Given the description of an element on the screen output the (x, y) to click on. 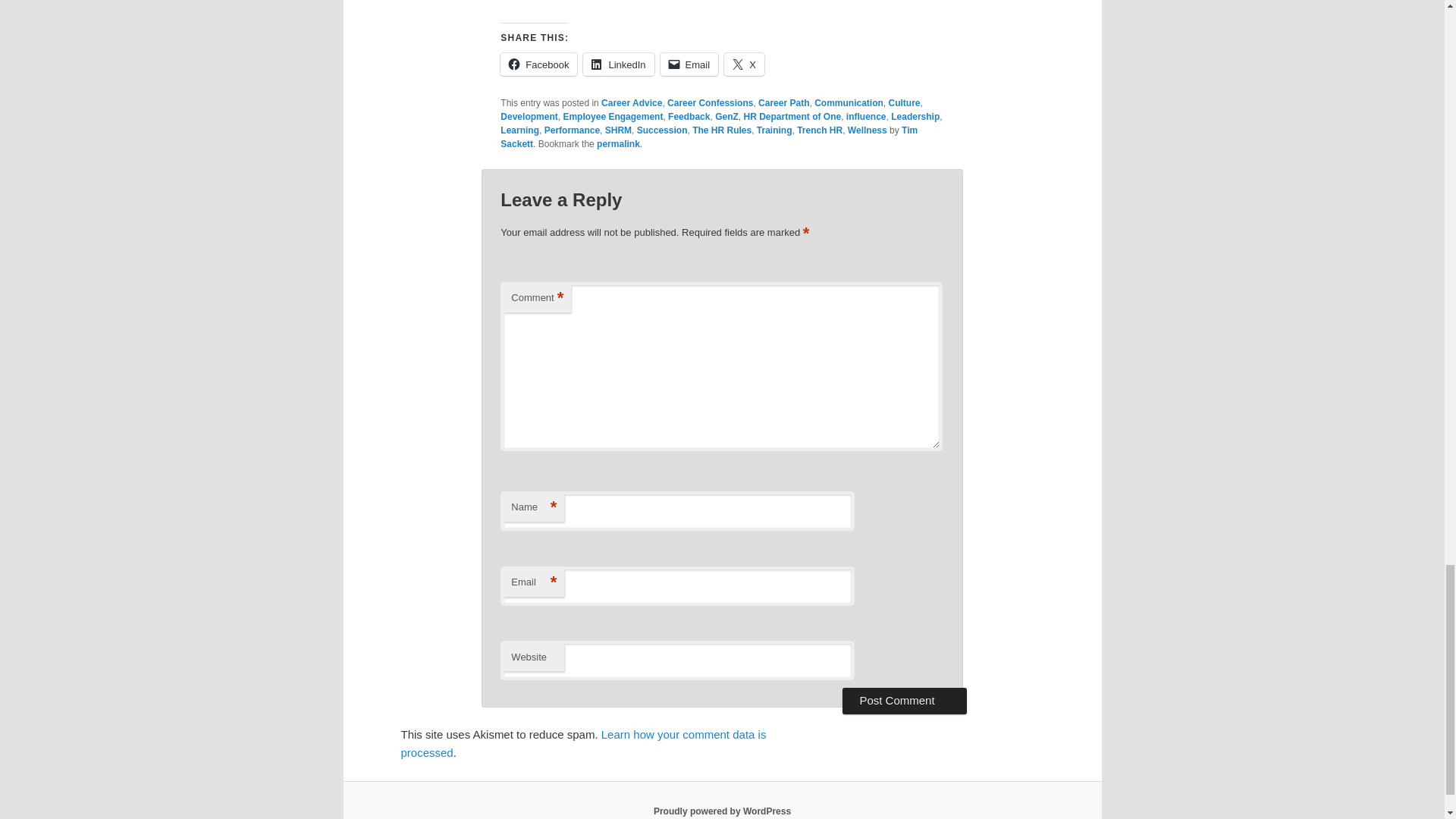
Post Comment (904, 700)
influence (865, 116)
Trench HR (819, 130)
Wellness (866, 130)
HR Department of One (791, 116)
LinkedIn (618, 64)
Click to share on Facebook (538, 64)
Facebook (538, 64)
Culture (904, 102)
X (743, 64)
